Given the description of an element on the screen output the (x, y) to click on. 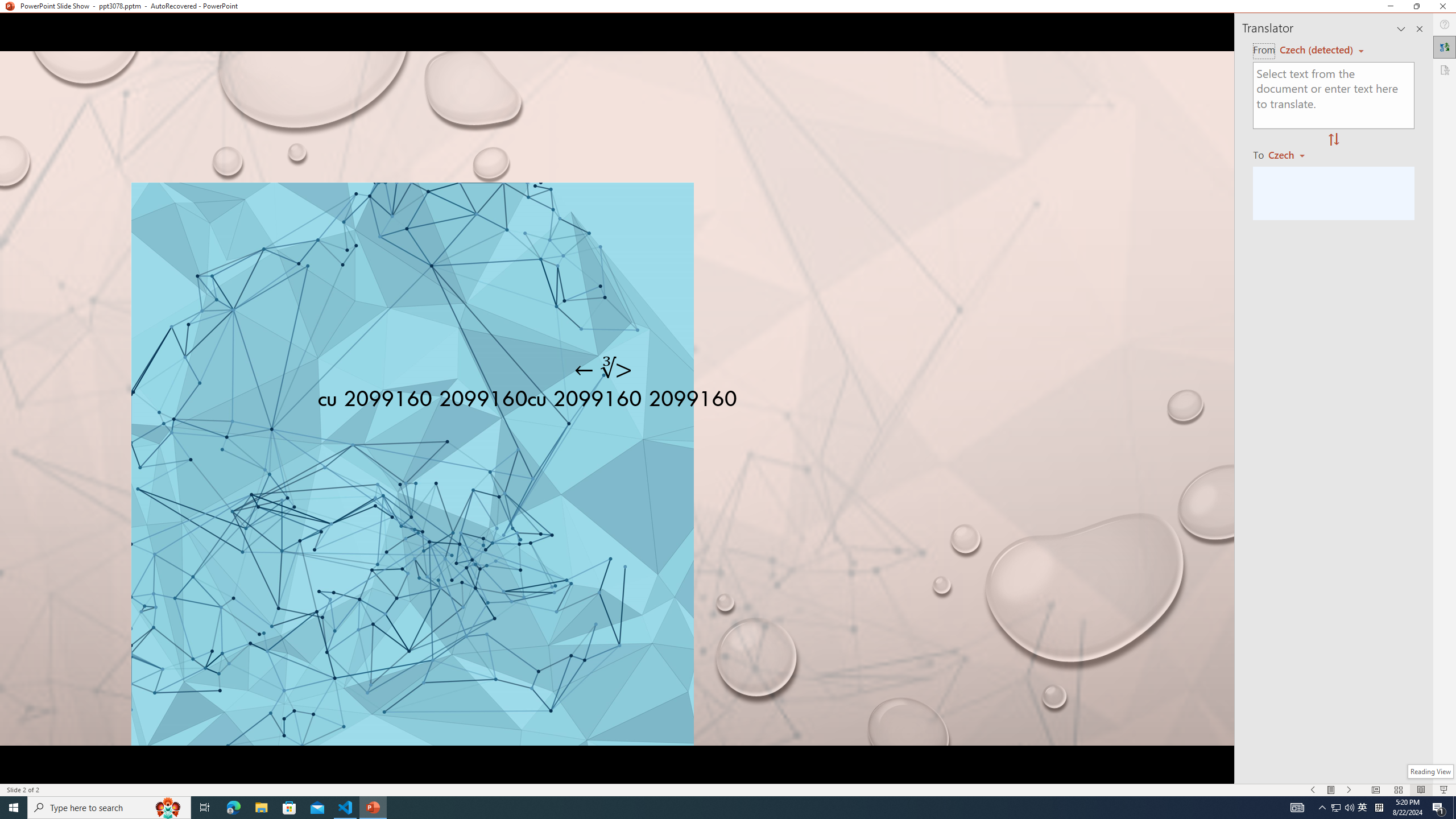
Czech (1291, 154)
Slide Show Previous On (1313, 790)
Menu On (1331, 790)
